Given the description of an element on the screen output the (x, y) to click on. 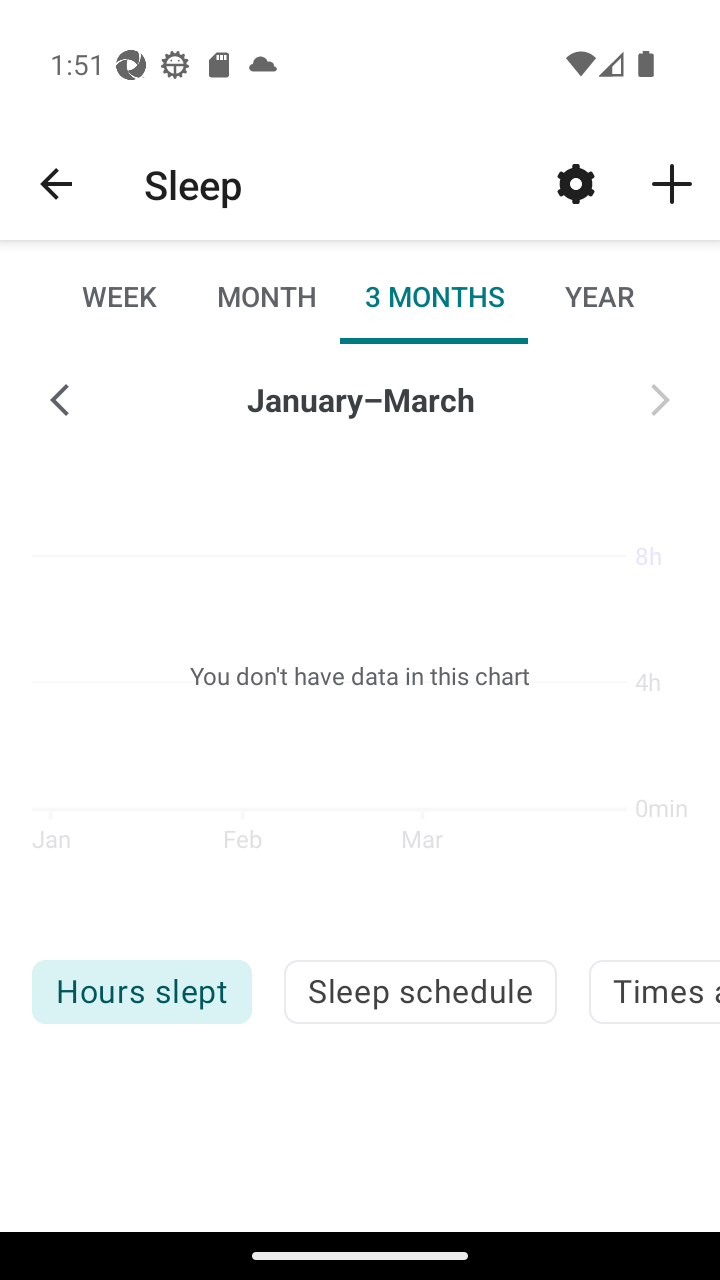
Navigate up (56, 184)
Adjust your goal (575, 183)
Tap to track sleep or
 log a past record (672, 183)
WEEK (120, 296)
MONTH (265, 296)
YEAR (599, 296)
Previous (60, 399)
Next (659, 399)
Hours slept (141, 991)
Sleep schedule (420, 991)
Times awakened (654, 991)
